Given the description of an element on the screen output the (x, y) to click on. 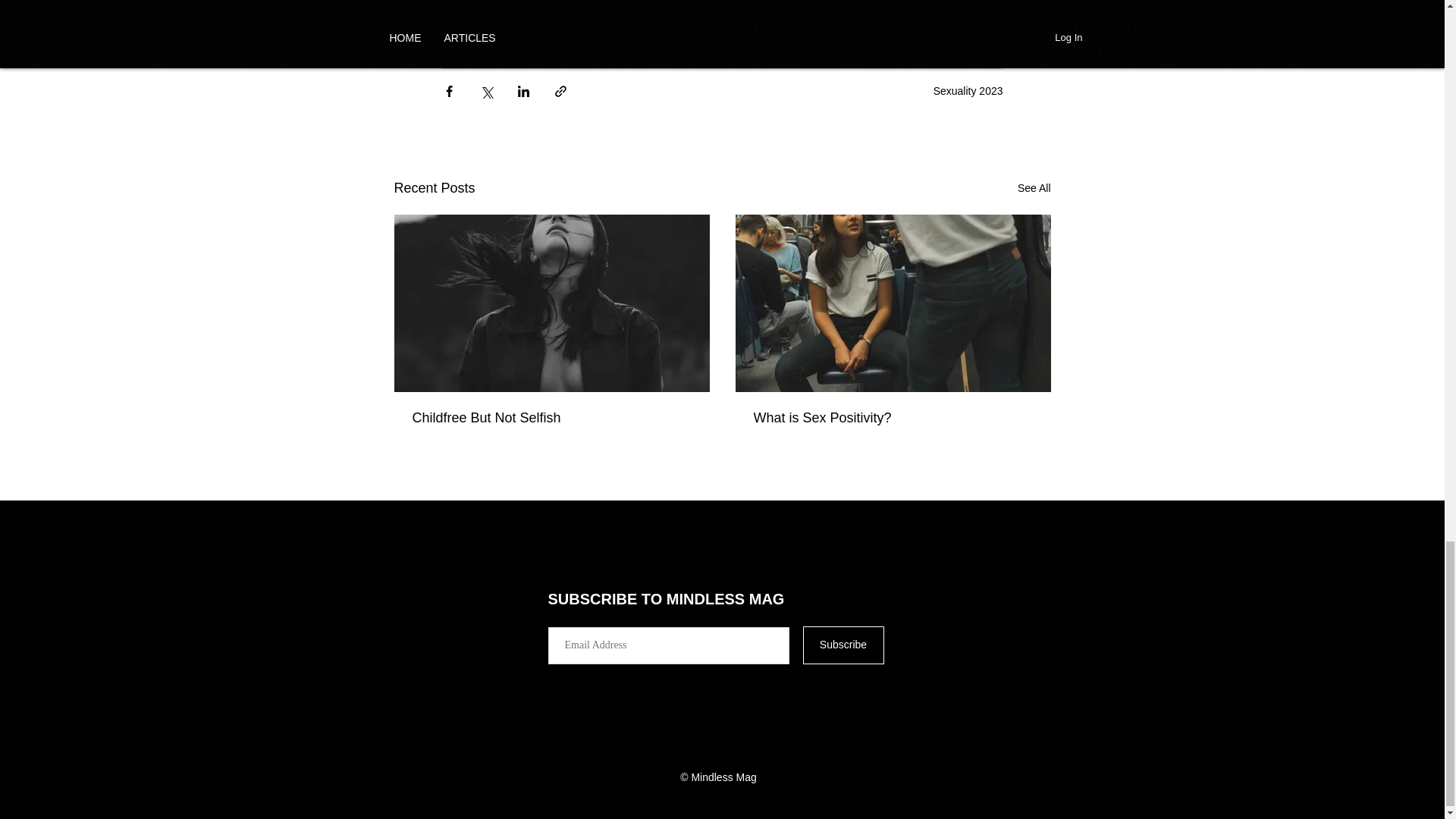
freedom (727, 8)
Childfree But Not Selfish (551, 417)
sexual empowerment (822, 8)
pleasure (919, 8)
therapy (665, 8)
Sexuality 2023 (968, 91)
vaginismus (477, 33)
happiness (542, 8)
health (607, 8)
sexuality (471, 8)
See All (1034, 188)
